Given the description of an element on the screen output the (x, y) to click on. 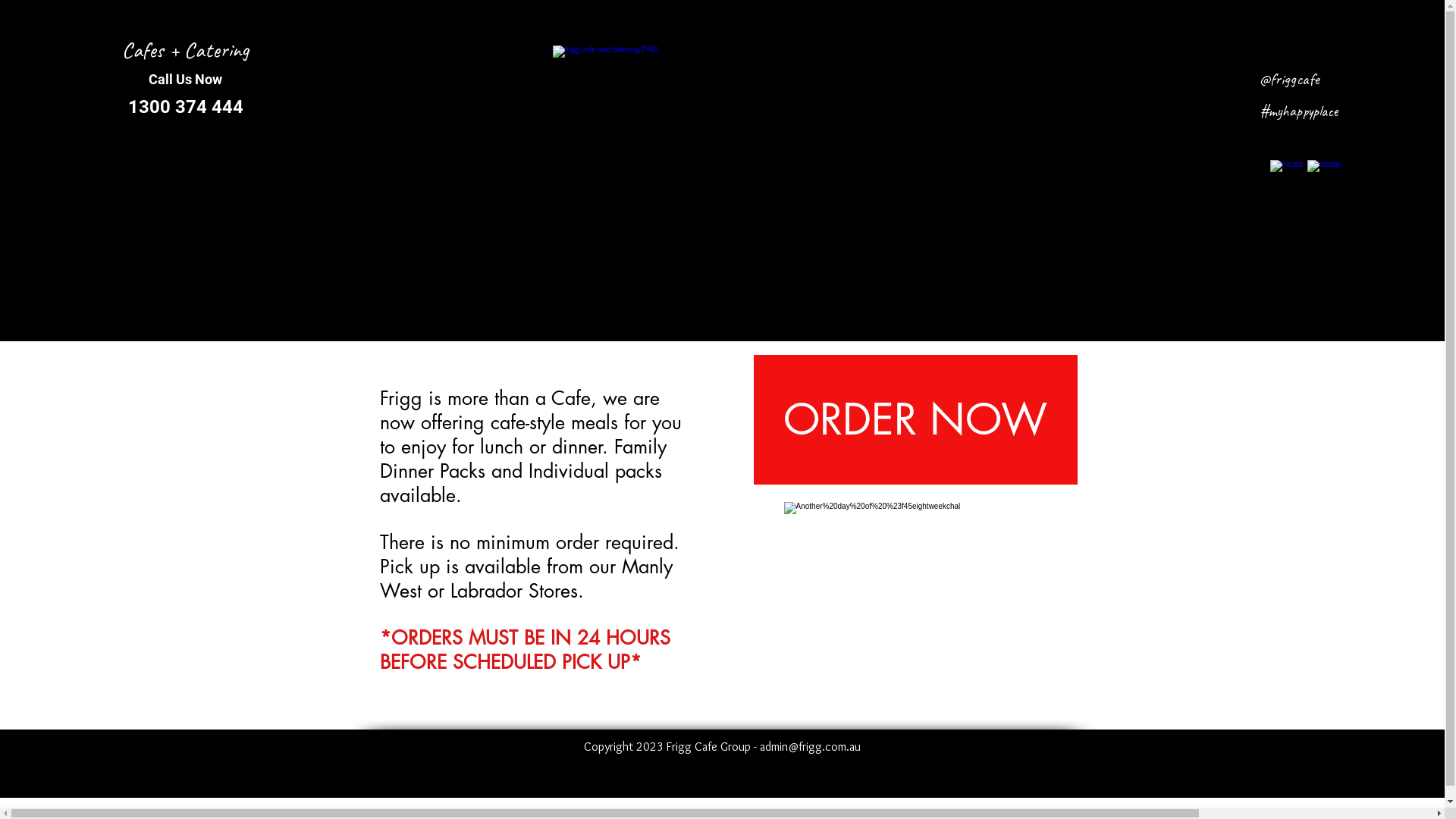
ORDER NOW Element type: text (915, 419)
logo_white_transparent (002).png Element type: hover (743, 184)
admin@frigg.com.au Element type: text (809, 746)
